Given the description of an element on the screen output the (x, y) to click on. 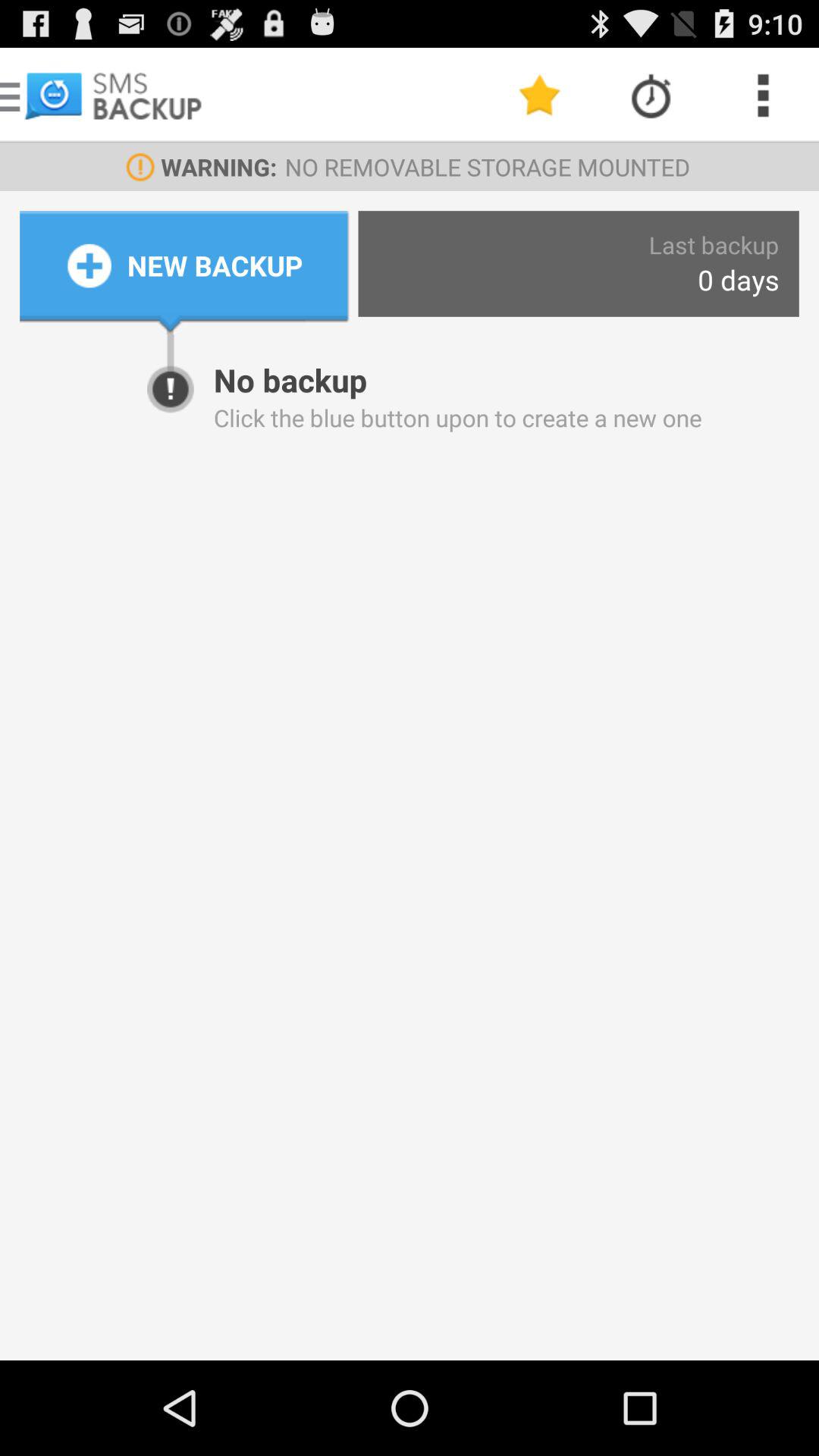
click the app to the right of warning: item (540, 95)
